Given the description of an element on the screen output the (x, y) to click on. 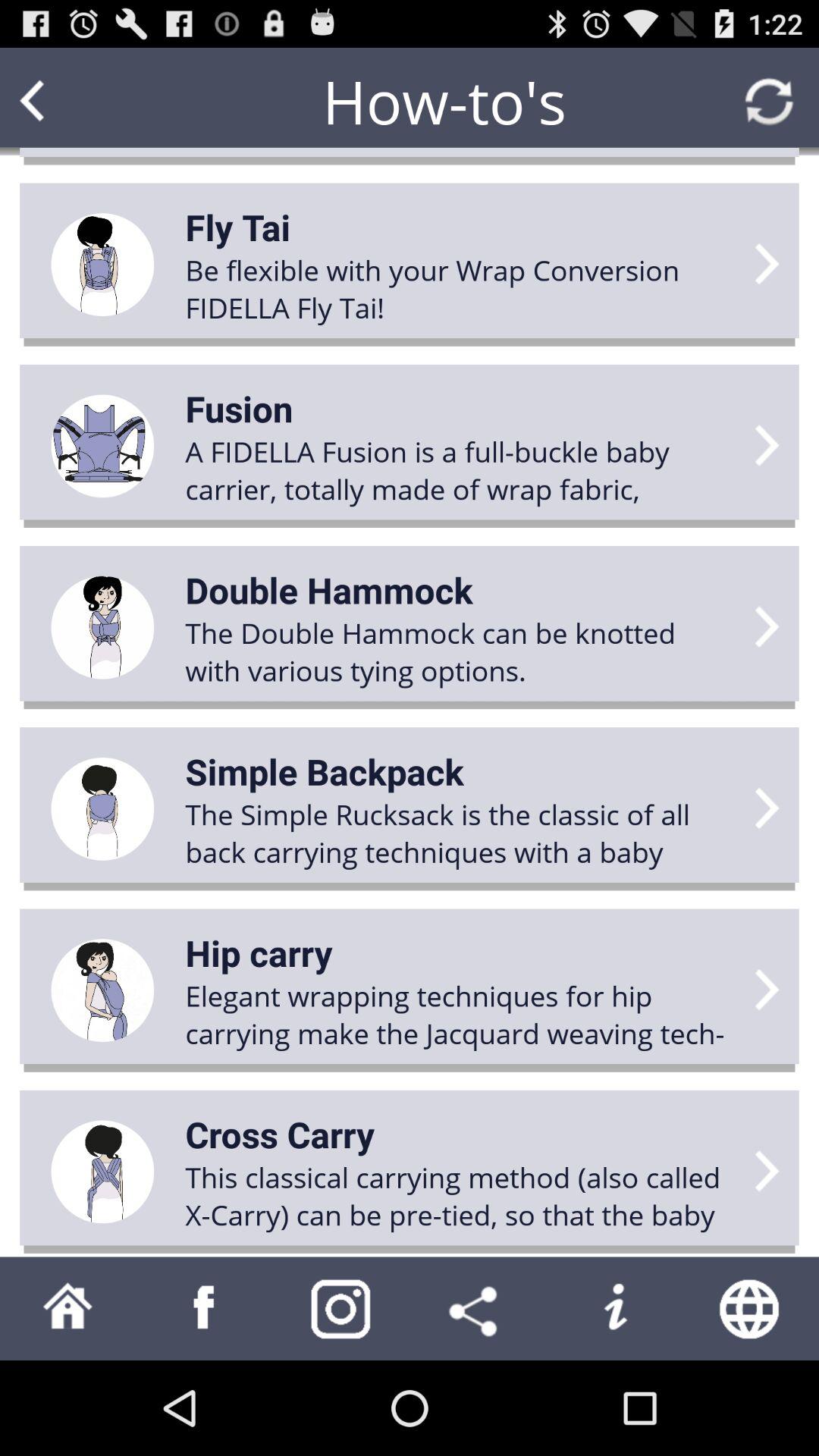
instagram (341, 1308)
